Given the description of an element on the screen output the (x, y) to click on. 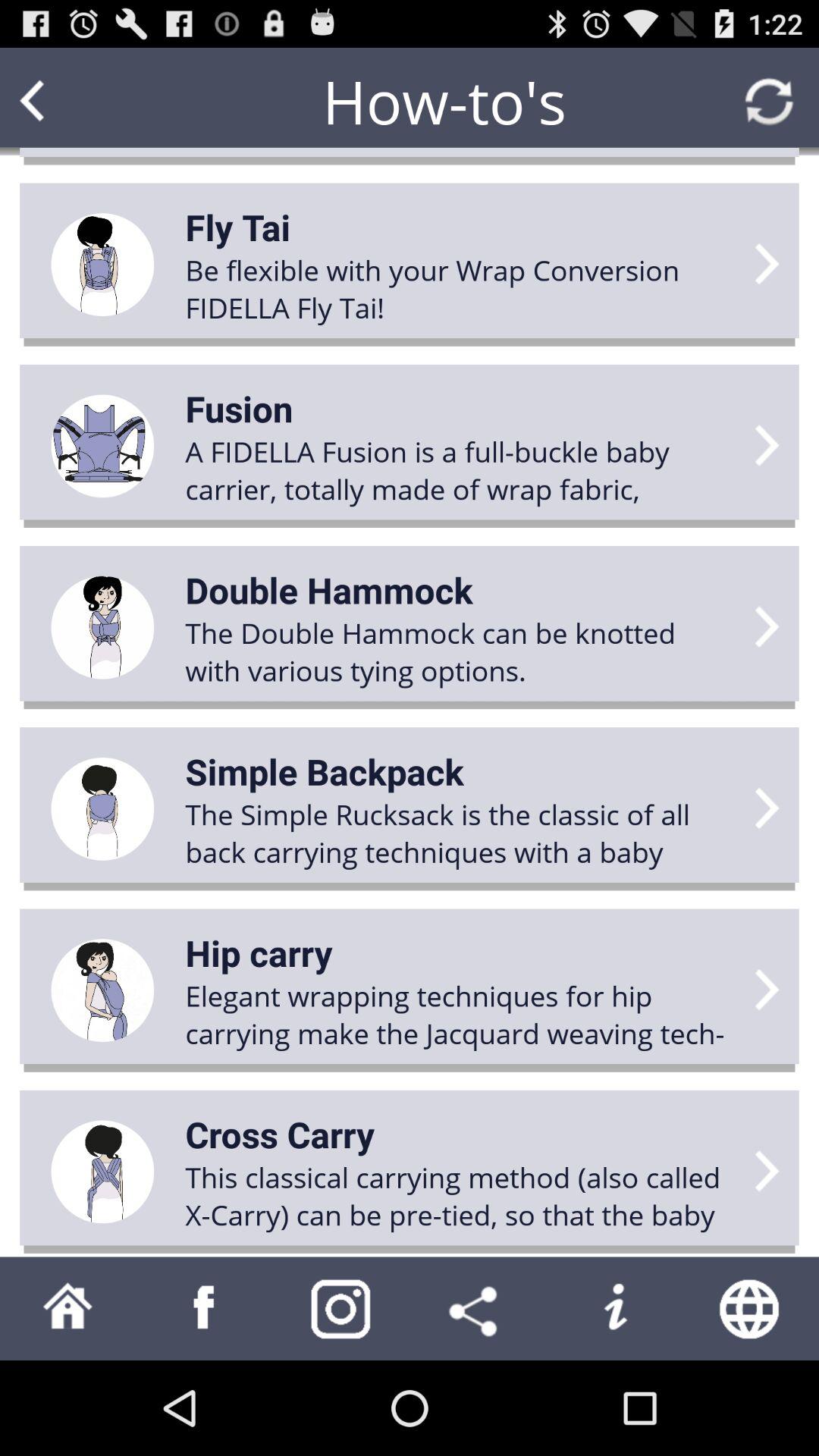
instagram (341, 1308)
